Given the description of an element on the screen output the (x, y) to click on. 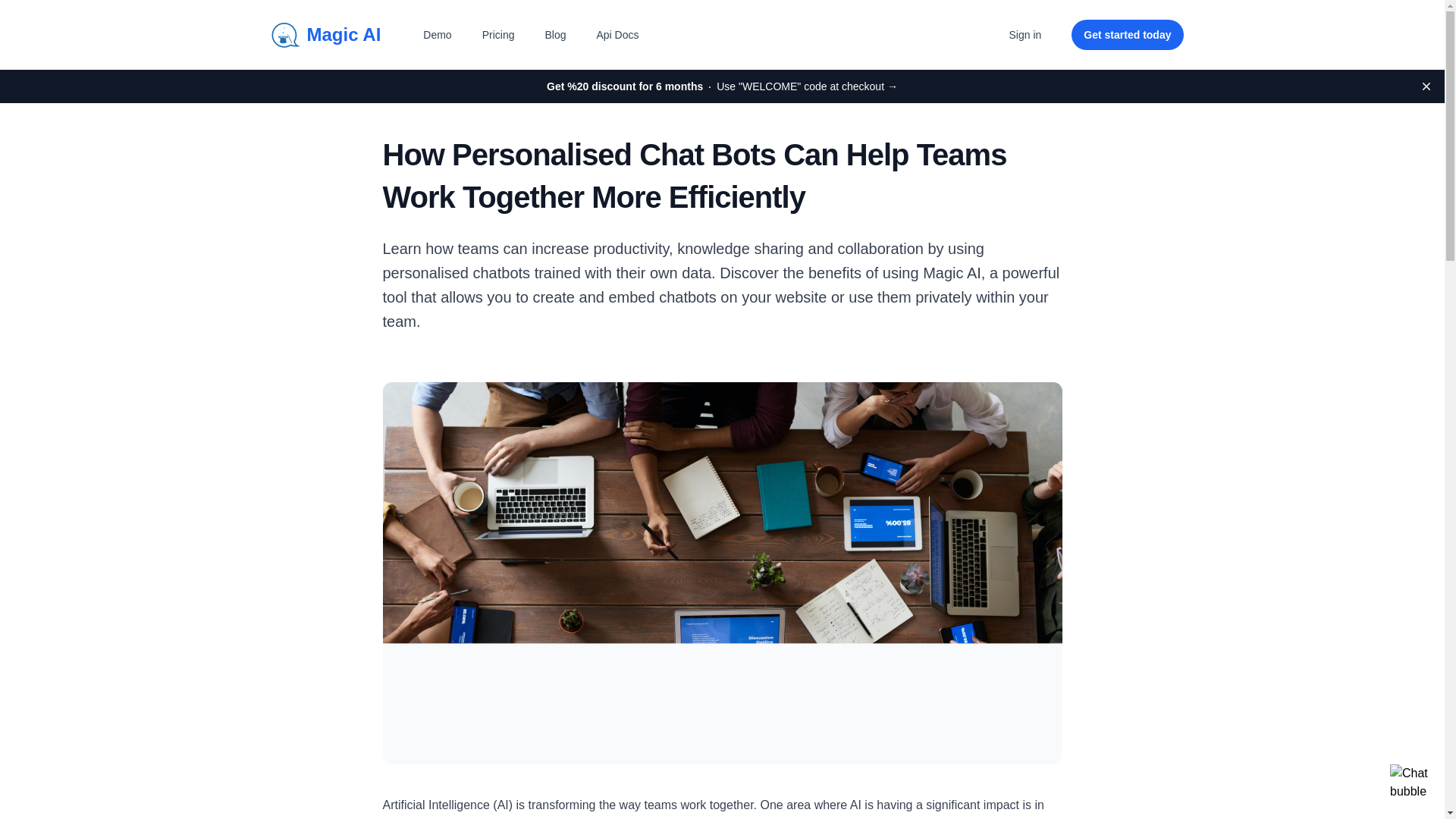
Api Docs (617, 34)
Get started today (1126, 34)
Sign in (1025, 34)
Demo (436, 34)
Magic AI (320, 34)
Blog (555, 34)
Dismiss (1425, 86)
Pricing (498, 34)
